Given the description of an element on the screen output the (x, y) to click on. 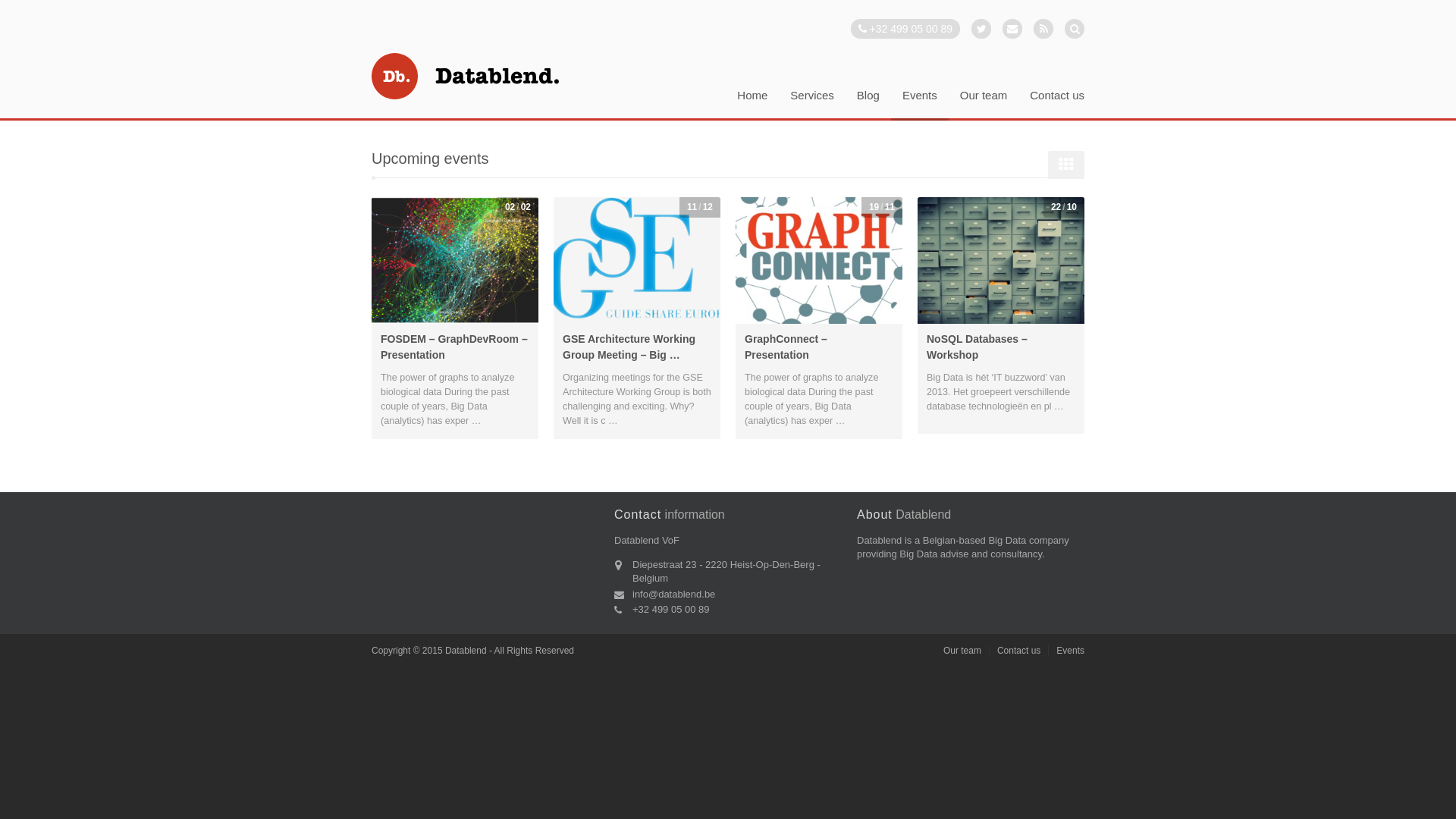
Blog Element type: text (868, 103)
Services Element type: text (811, 103)
+32 499 05 00 89 Element type: text (905, 28)
Home Element type: text (751, 103)
Contact us Element type: text (1056, 103)
Our team Element type: text (962, 650)
Contact us Element type: text (1018, 650)
Datablend Element type: hover (474, 76)
Events Element type: text (919, 104)
Our team Element type: text (983, 103)
Events Element type: text (1070, 650)
